Given the description of an element on the screen output the (x, y) to click on. 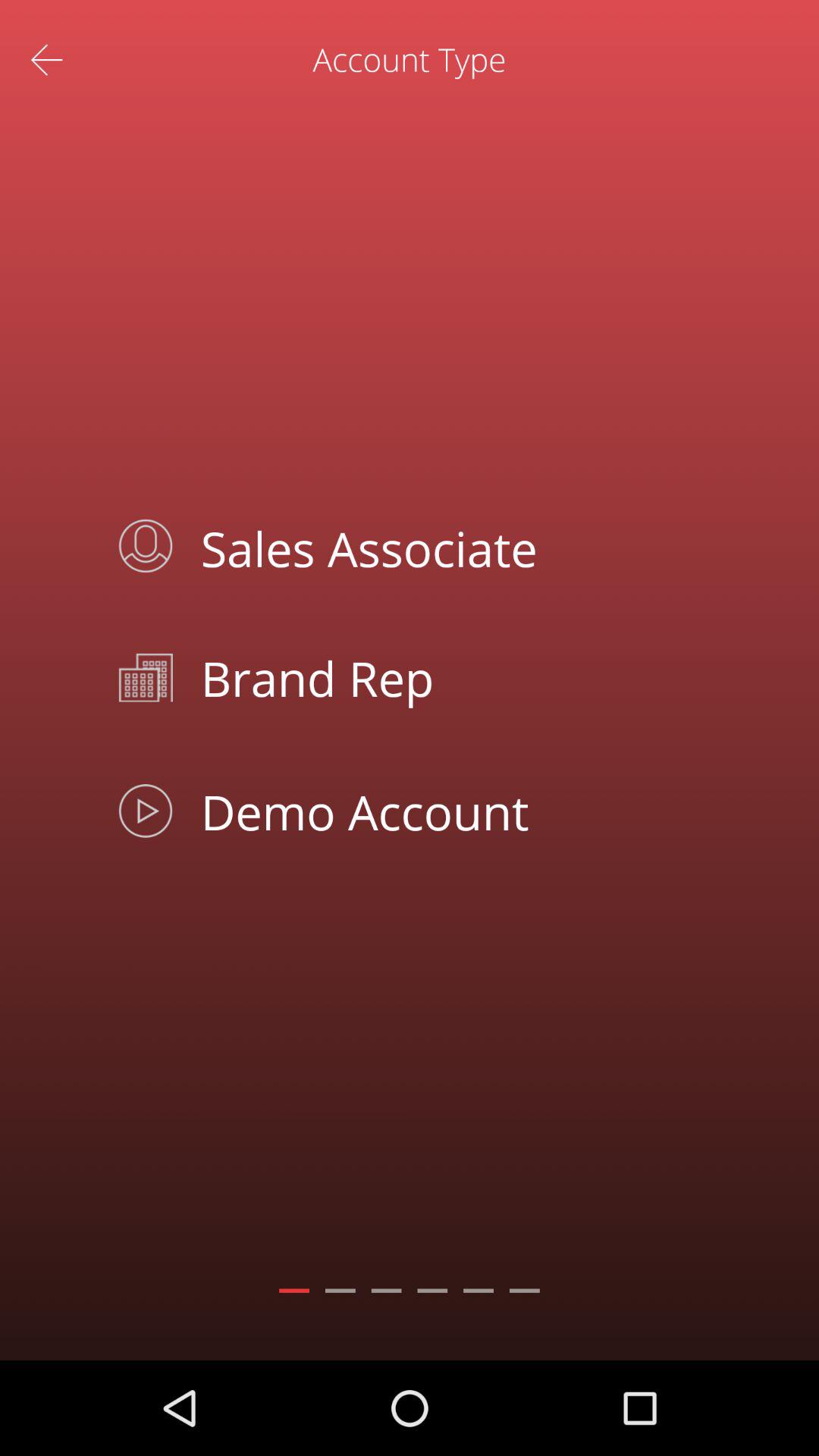
scroll until the brand rep icon (444, 677)
